Given the description of an element on the screen output the (x, y) to click on. 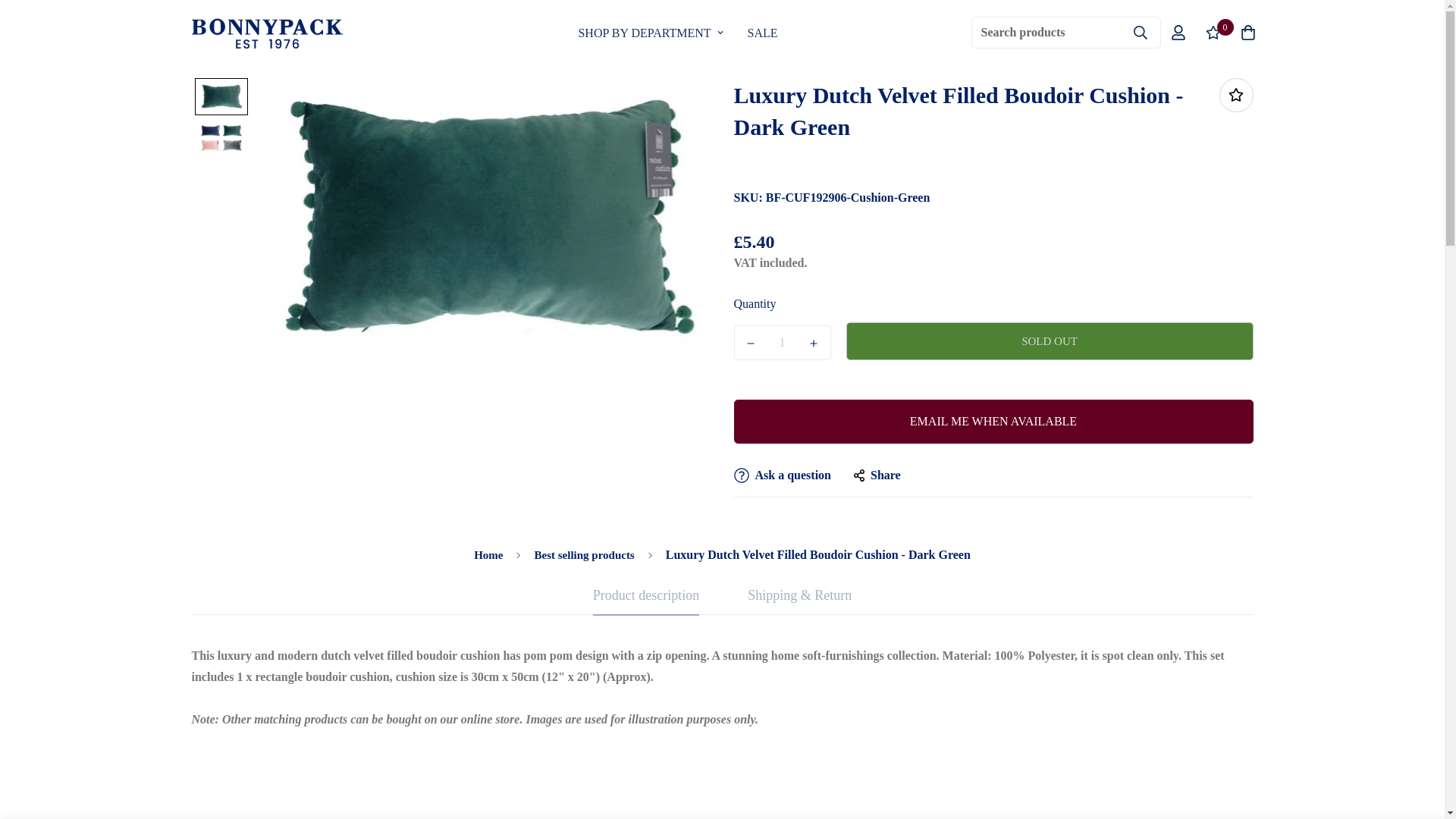
1 (782, 342)
SHOP BY DEPARTMENT (650, 32)
Bonnypack (677, 32)
Back to the home page (677, 32)
